Given the description of an element on the screen output the (x, y) to click on. 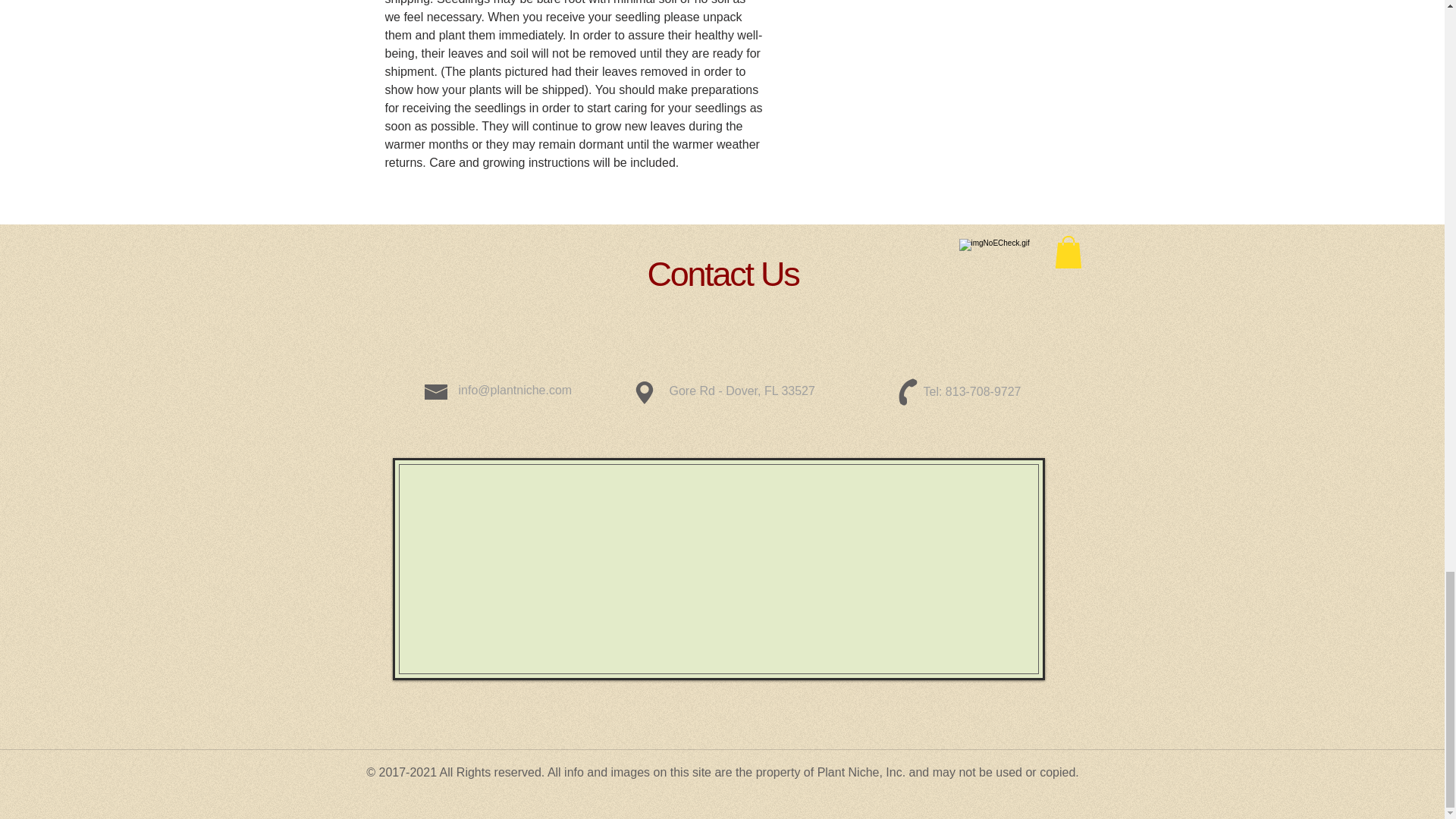
Google Maps (717, 567)
